Given the description of an element on the screen output the (x, y) to click on. 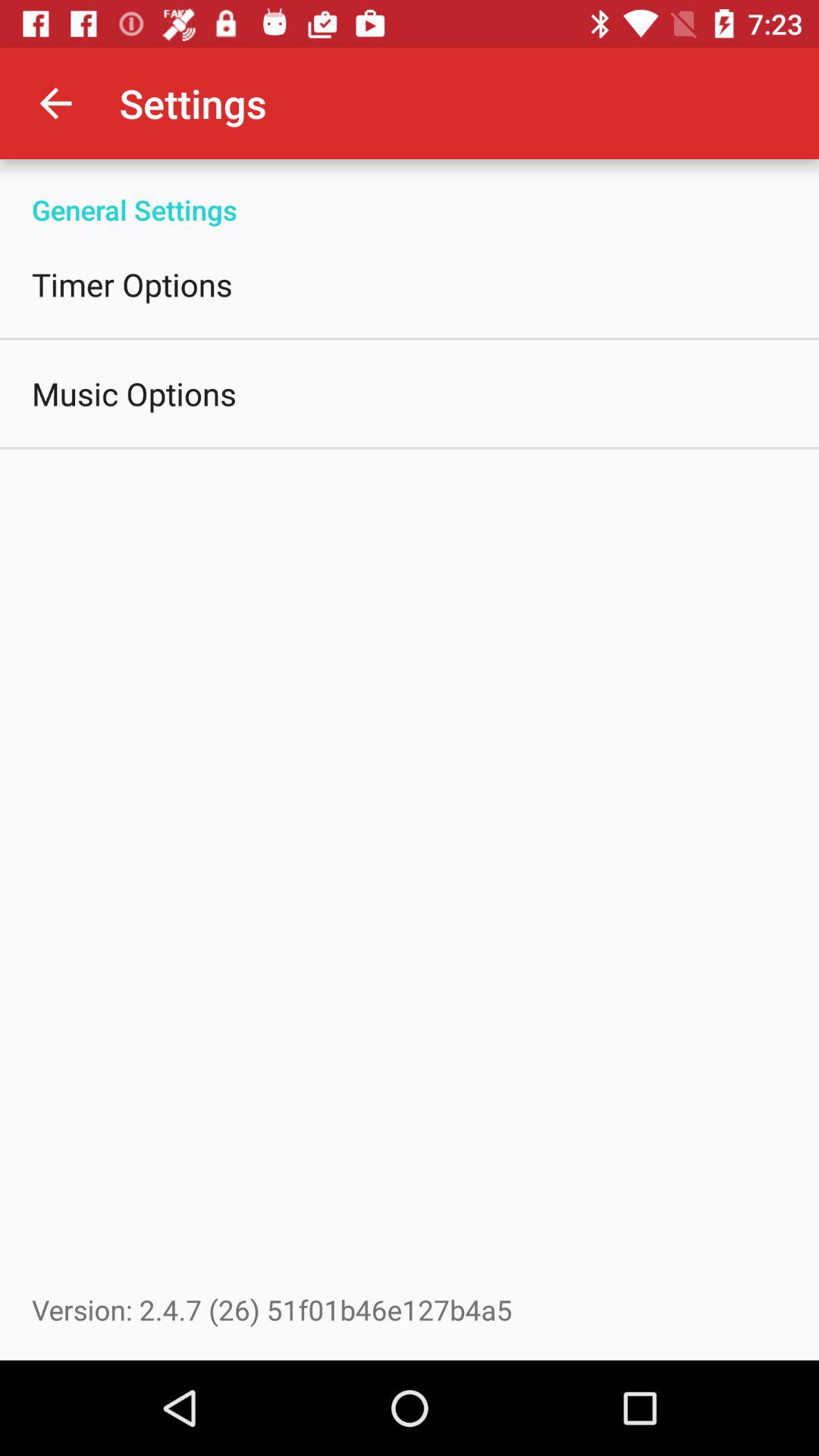
select icon above the version 2 4 (133, 393)
